Given the description of an element on the screen output the (x, y) to click on. 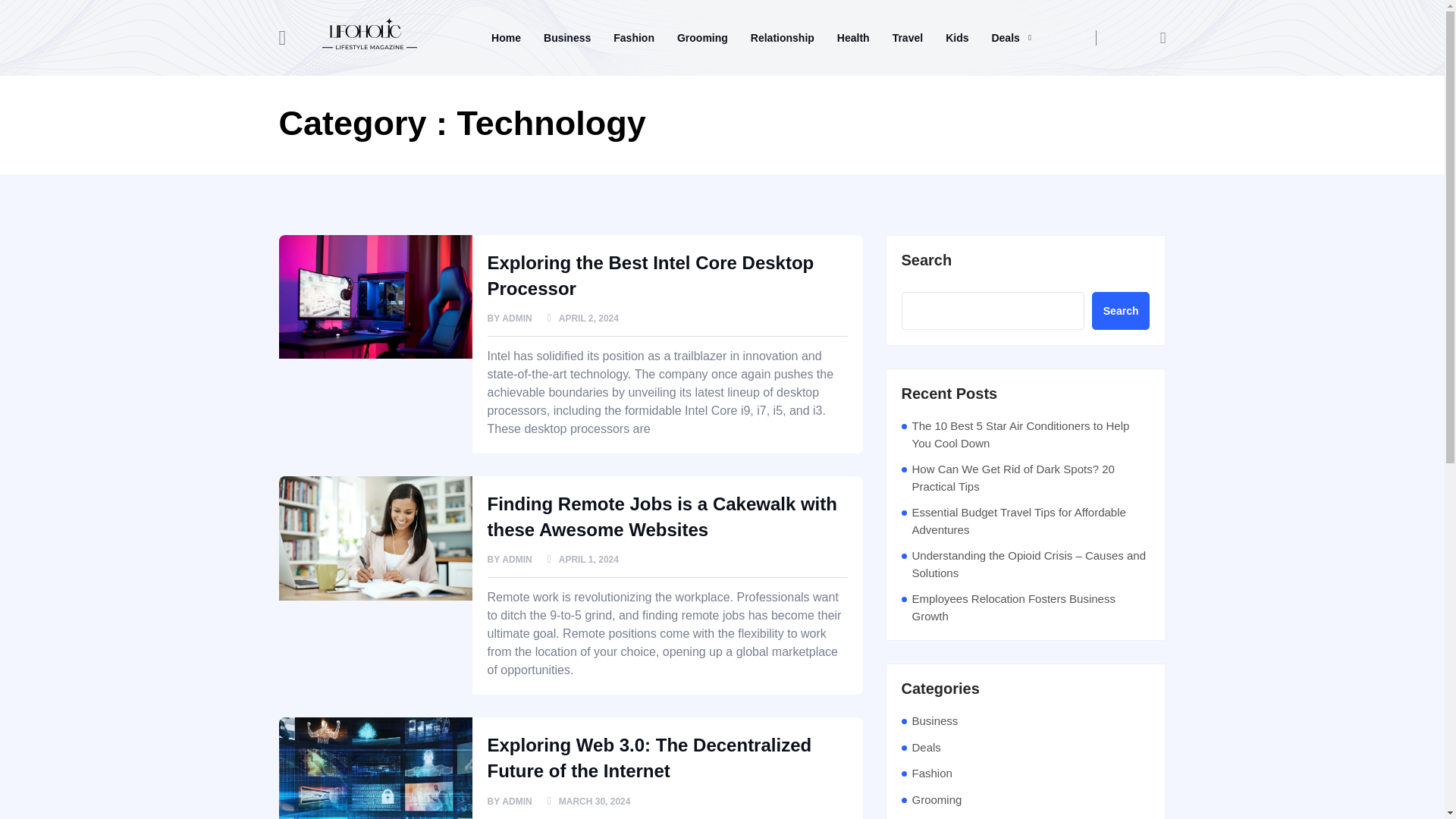
Relationship (782, 37)
Deals (1010, 37)
ADMIN (516, 801)
The 10 Best 5 Star Air Conditioners to Help You Cool Down (1030, 434)
Exploring the Best Intel Core Desktop Processor (649, 275)
Fashion (633, 37)
How Can We Get Rid of Dark Spots? 20 Practical Tips (1030, 478)
Search (1121, 310)
Grooming (702, 37)
ADMIN (516, 559)
